Given the description of an element on the screen output the (x, y) to click on. 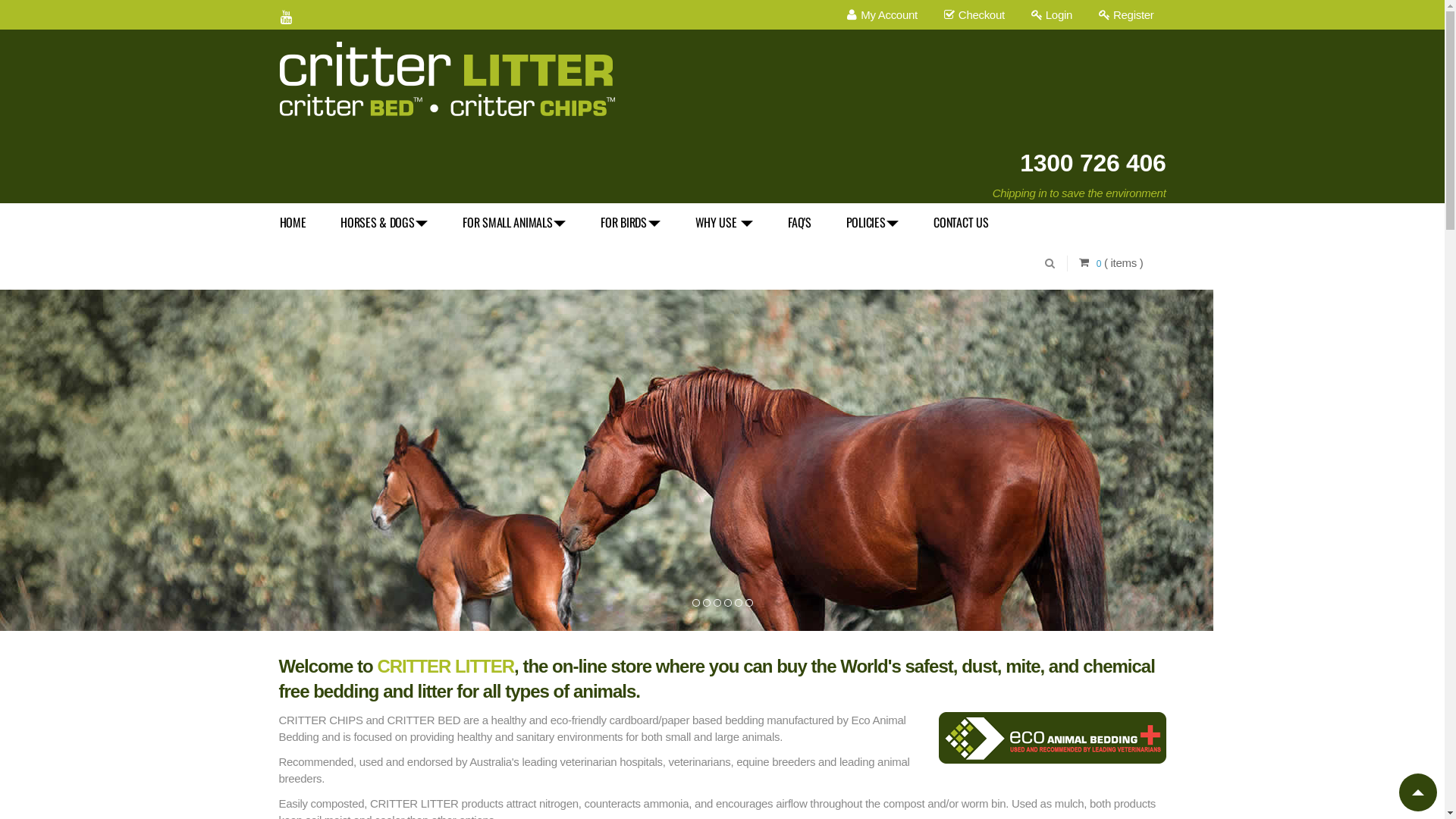
Dust Free Cat Bedding Element type: hover (716, 602)
CONTACT US Element type: text (969, 220)
Visit Eco Animal Bedding website Element type: hover (1052, 737)
HORSES & DOGS Element type: text (393, 220)
Ideal for Small Animals Element type: hover (727, 602)
Chemical Free for Birds Element type: hover (737, 602)
HOME Element type: text (301, 220)
FAQ'S Element type: text (808, 220)
My Account Element type: text (881, 14)
Dust Free Equine Bedding Element type: hover (695, 602)
WHY USE Element type: text (733, 220)
0 ( items ) Element type: text (1119, 262)
Checkout Element type: text (974, 14)
youtube Element type: hover (285, 11)
Register Element type: text (1125, 14)
Login Element type: text (1051, 14)
POLICIES Element type: text (881, 220)
1300 726 406 Element type: text (1092, 162)
Litter for Reptiles Element type: hover (748, 602)
FOR SMALL ANIMALS Element type: text (523, 220)
Dust Free Bedding for Dogs Element type: hover (705, 602)
FOR BIRDS Element type: text (639, 220)
Back to Home page Element type: hover (448, 77)
Top Element type: text (1418, 792)
